Given the description of an element on the screen output the (x, y) to click on. 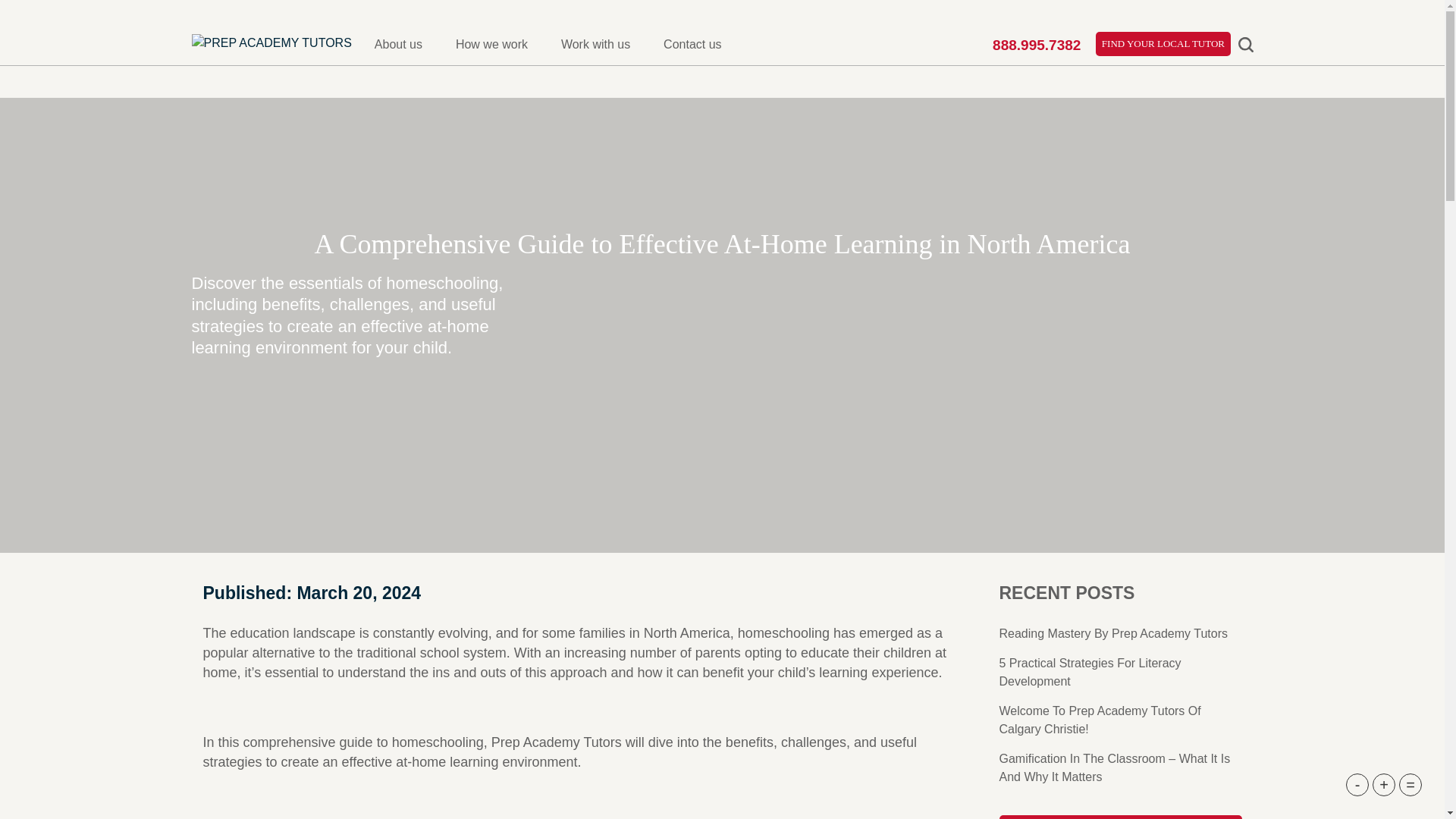
Reset text size (1410, 784)
About us (397, 44)
Welcome To Prep Academy Tutors Of Calgary Christie! (1099, 719)
Work with us (595, 44)
Contact us (692, 44)
Increase text size (1383, 784)
Work with us (595, 44)
Reading Mastery By Prep Academy Tutors (1112, 633)
FIND YOUR LOCAL TUTOR (1163, 43)
How we work (491, 44)
